Given the description of an element on the screen output the (x, y) to click on. 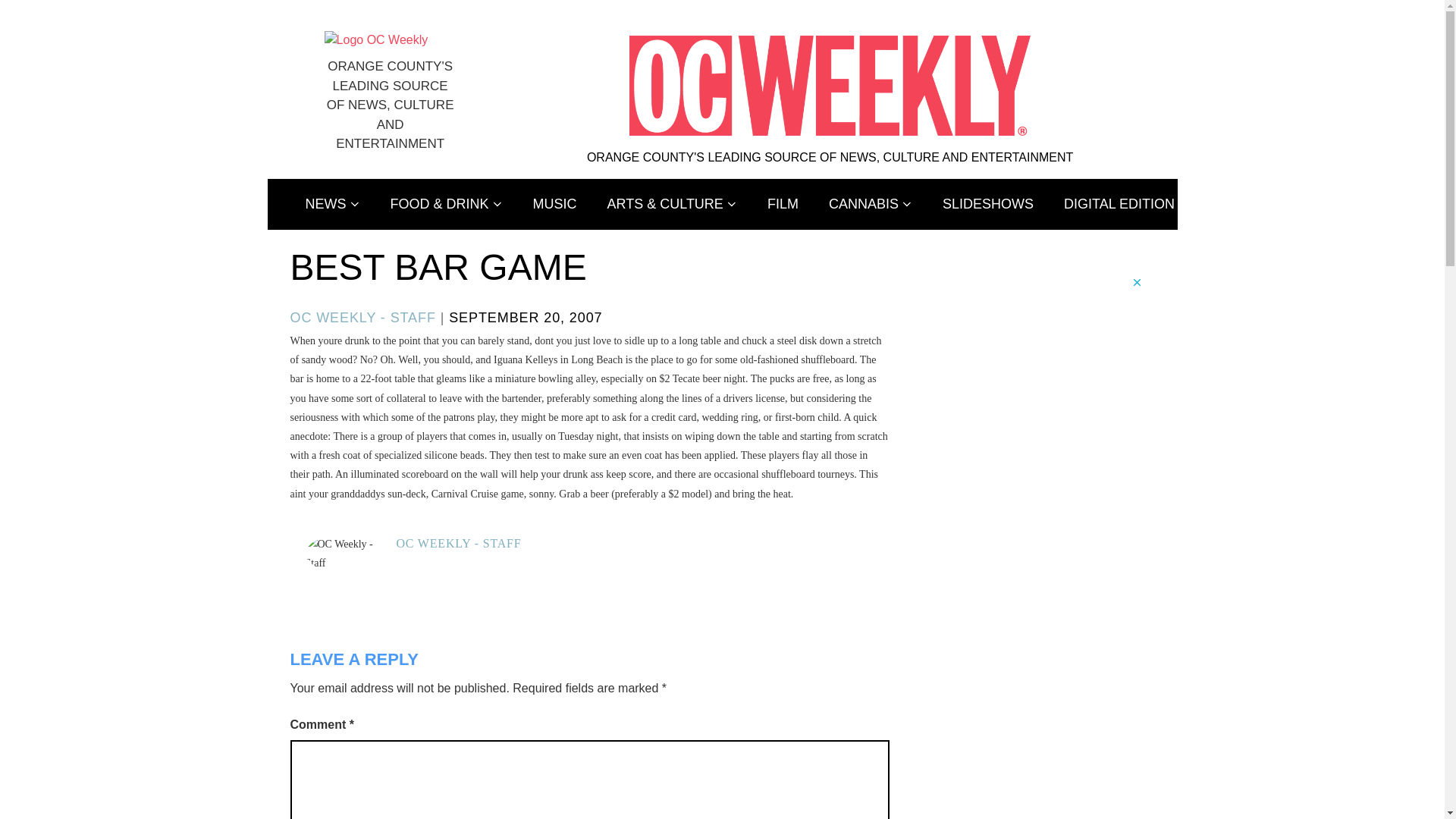
News (331, 204)
NEWS (331, 204)
FILM (782, 204)
OC Weekly (376, 39)
MUSIC (555, 204)
CANNABIS (870, 204)
